Given the description of an element on the screen output the (x, y) to click on. 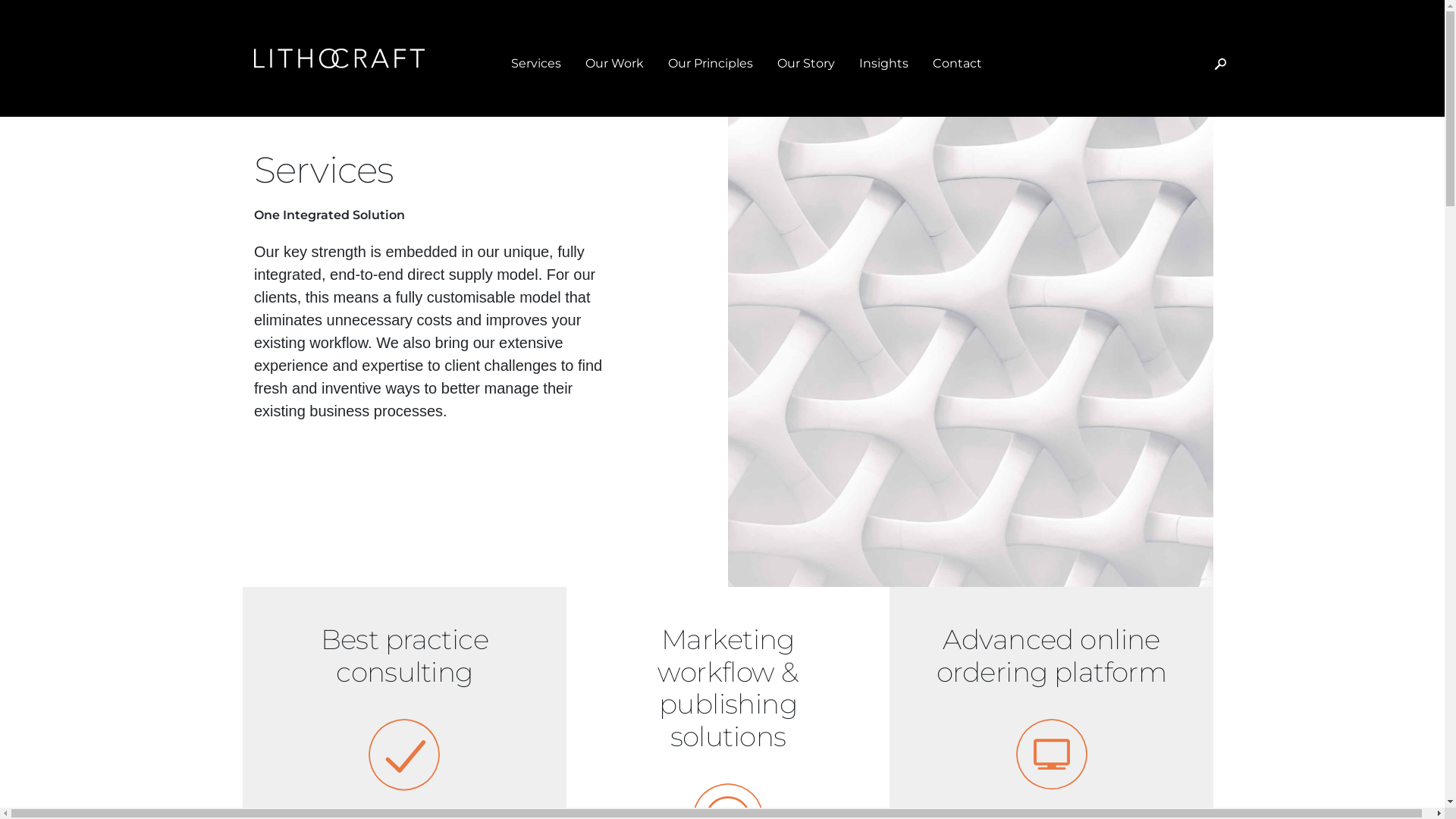
Our Story Element type: text (806, 63)
Our Work Element type: text (614, 63)
Contact Element type: text (957, 63)
Our Principles Element type: text (710, 63)
Insights Element type: text (883, 63)
Services Element type: text (535, 63)
